Given the description of an element on the screen output the (x, y) to click on. 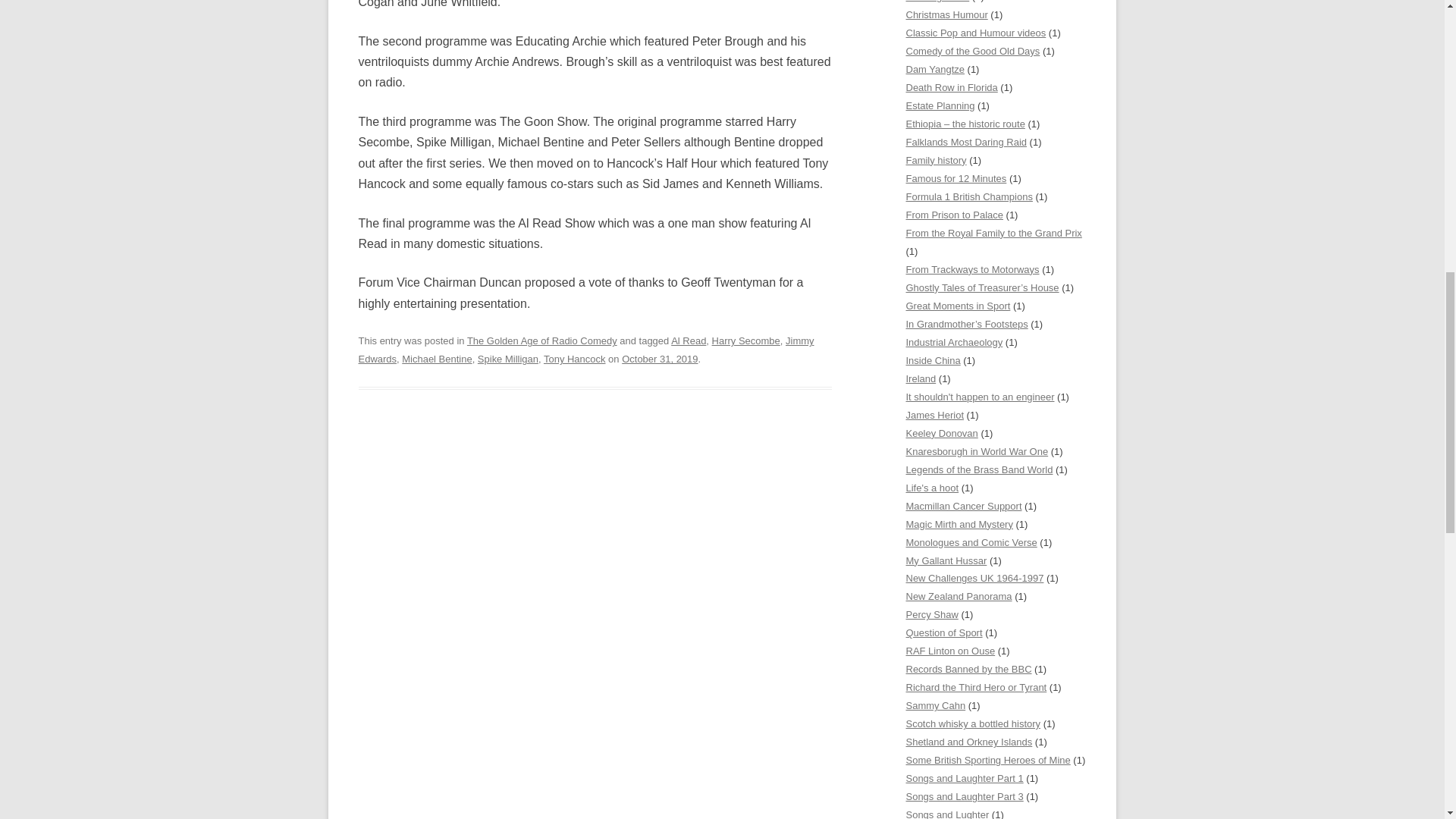
Jimmy Edwards (585, 349)
9:46 am (659, 358)
October 31, 2019 (659, 358)
Spike Milligan (507, 358)
Tony Hancock (574, 358)
Al Read (688, 340)
Michael Bentine (436, 358)
The Golden Age of Radio Comedy (542, 340)
Harry Secombe (745, 340)
